Given the description of an element on the screen output the (x, y) to click on. 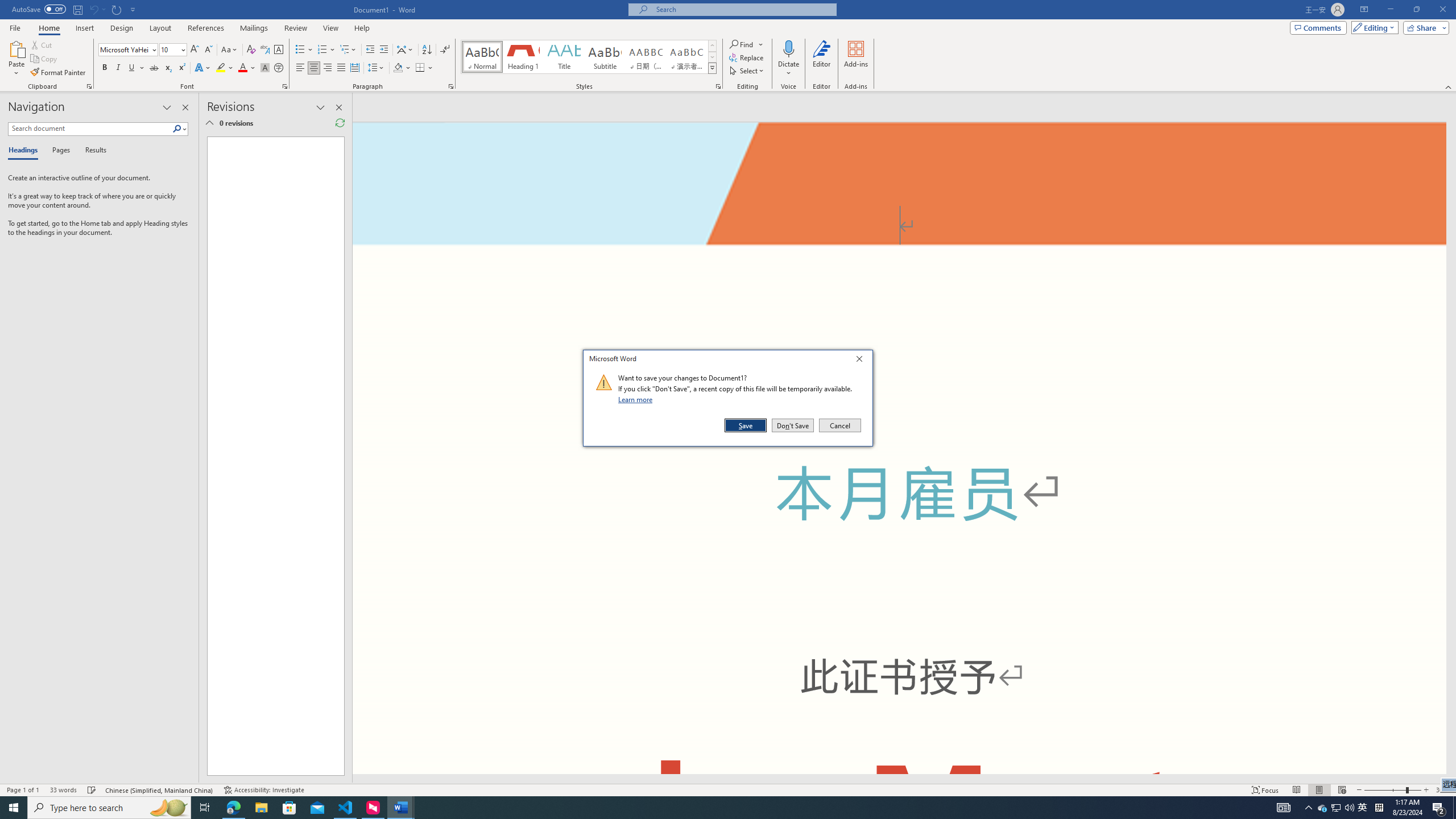
Strikethrough (154, 67)
File Explorer (261, 807)
Q2790: 100% (1349, 807)
Header -Section 1- (898, 163)
Office Clipboard... (1335, 807)
Refresh Reviewing Pane (88, 85)
Headings (339, 122)
